Given the description of an element on the screen output the (x, y) to click on. 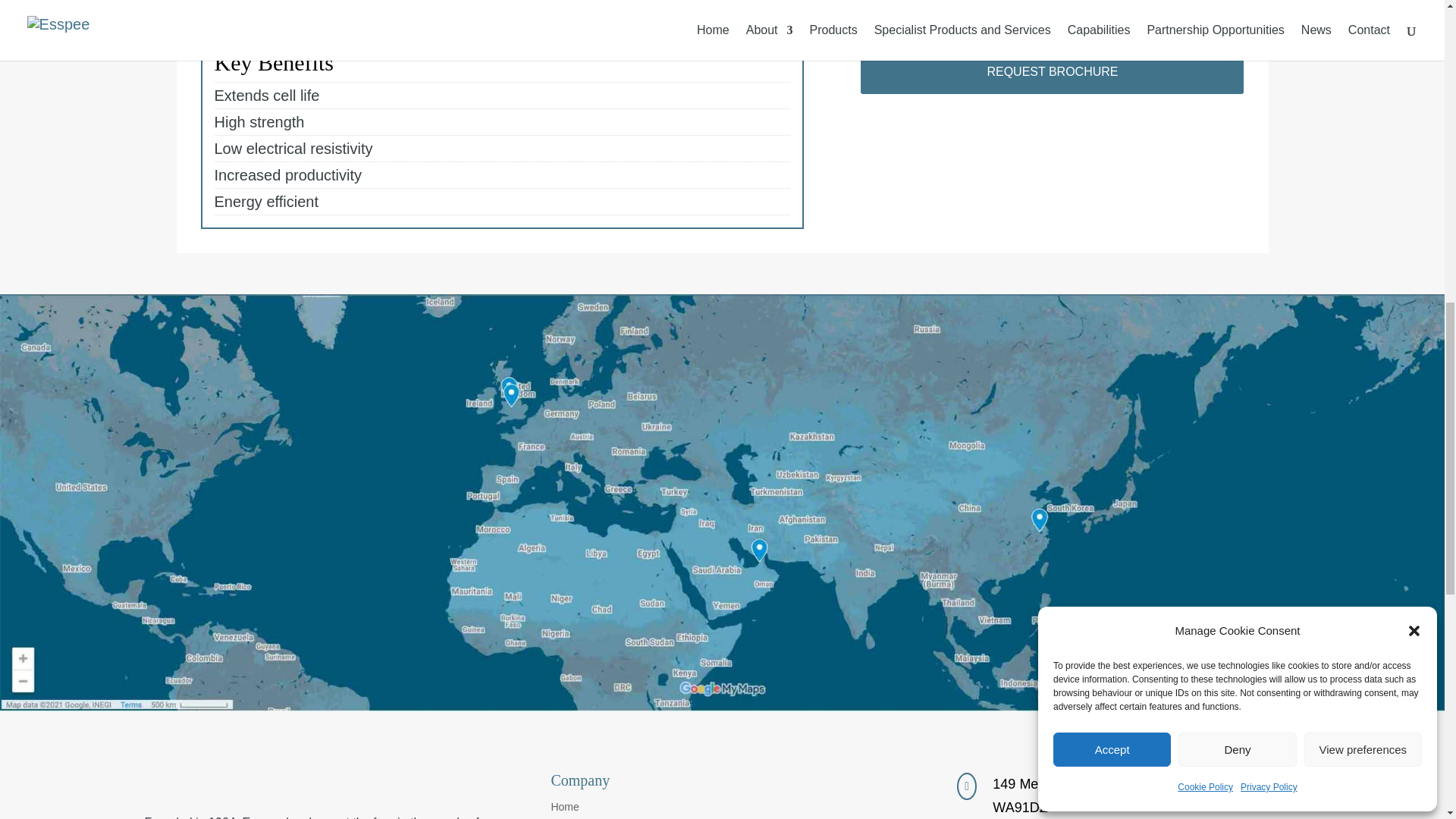
Home (564, 809)
REQUEST BROCHURE (1051, 71)
